Given the description of an element on the screen output the (x, y) to click on. 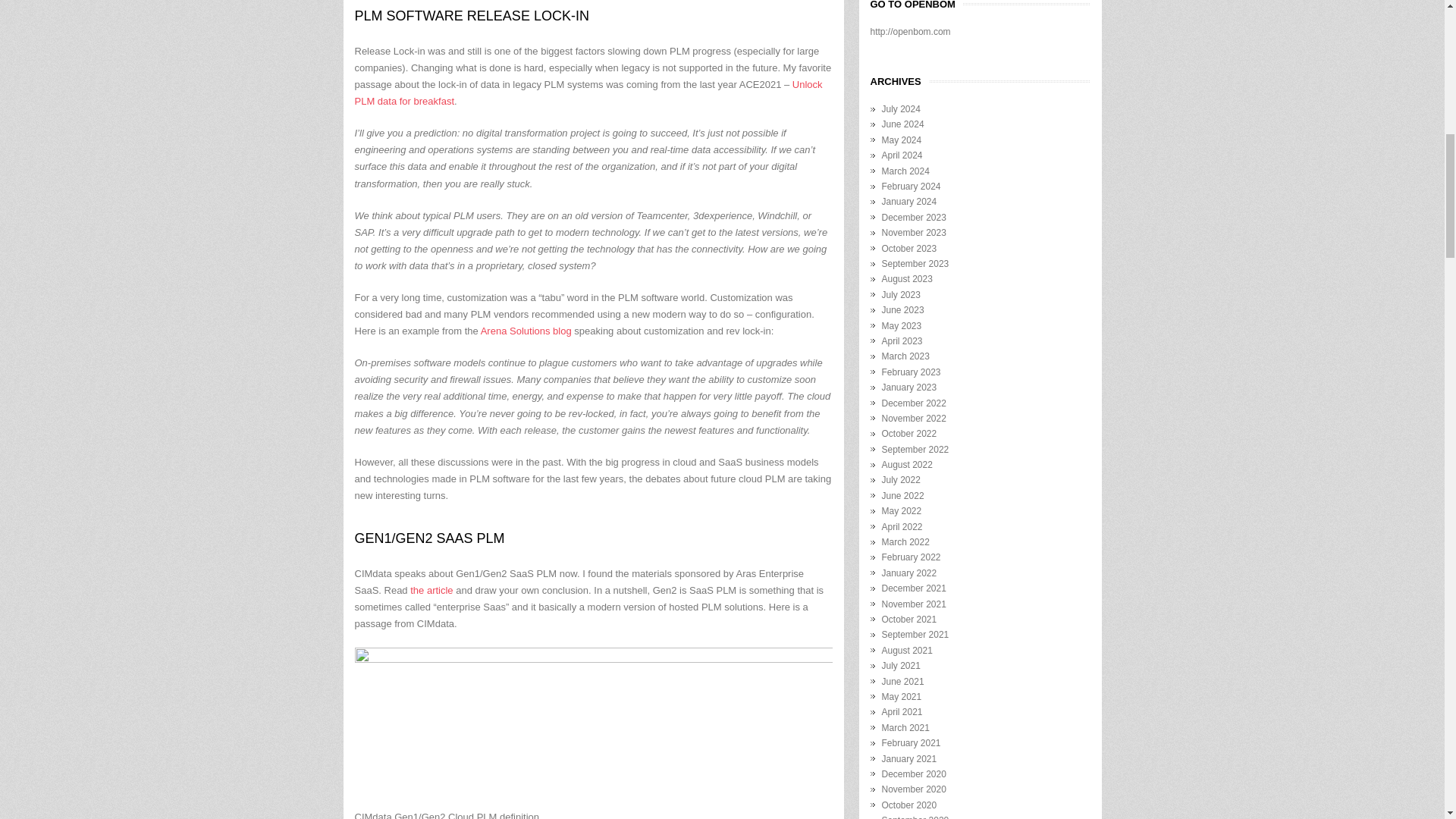
Unlock PLM data for breakfast (588, 92)
the article (431, 590)
Arena Solutions blog (526, 330)
